Given the description of an element on the screen output the (x, y) to click on. 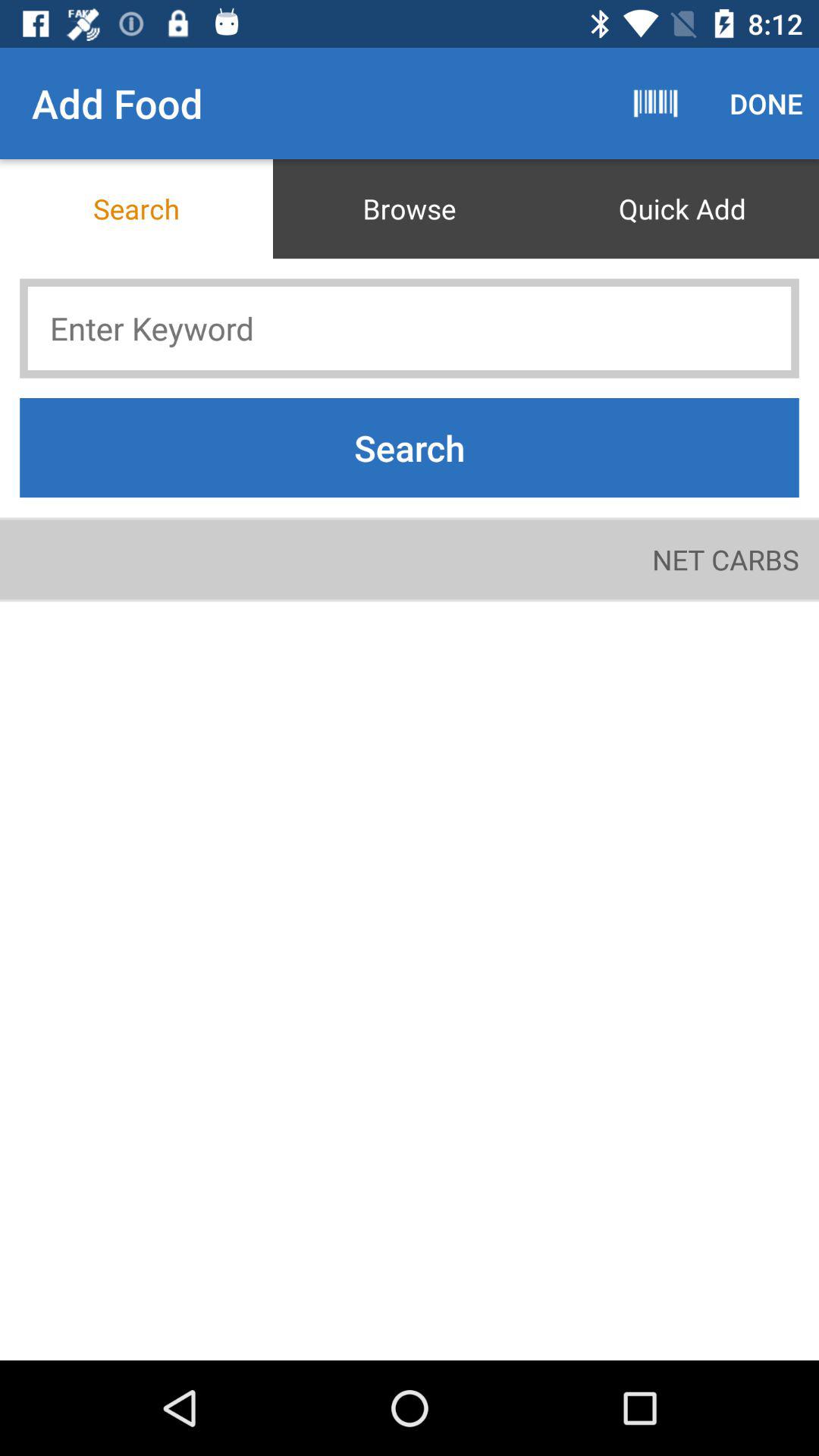
search keyword (409, 328)
